Given the description of an element on the screen output the (x, y) to click on. 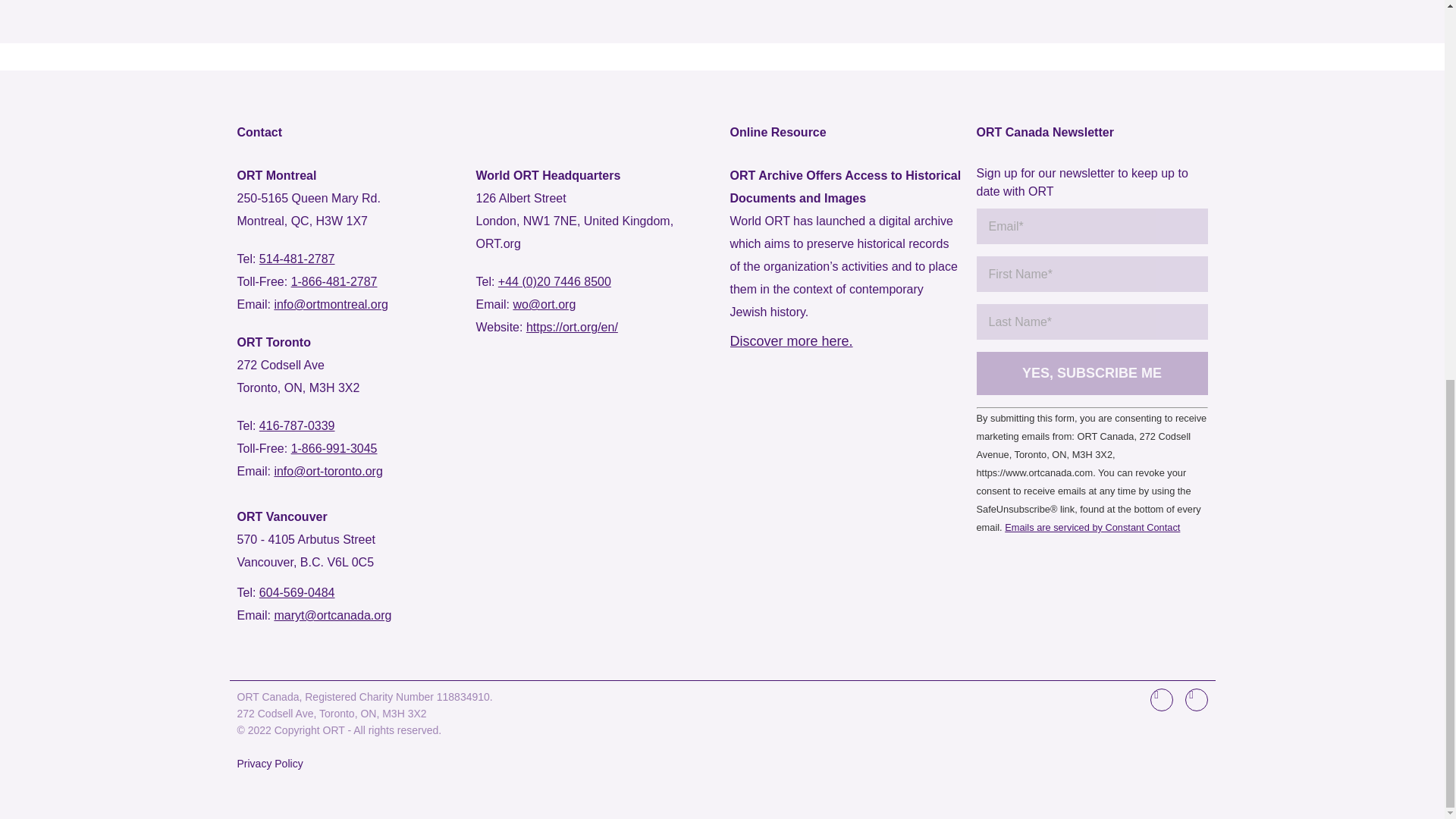
YES, SUBSCRIBE ME (1092, 373)
